Given the description of an element on the screen output the (x, y) to click on. 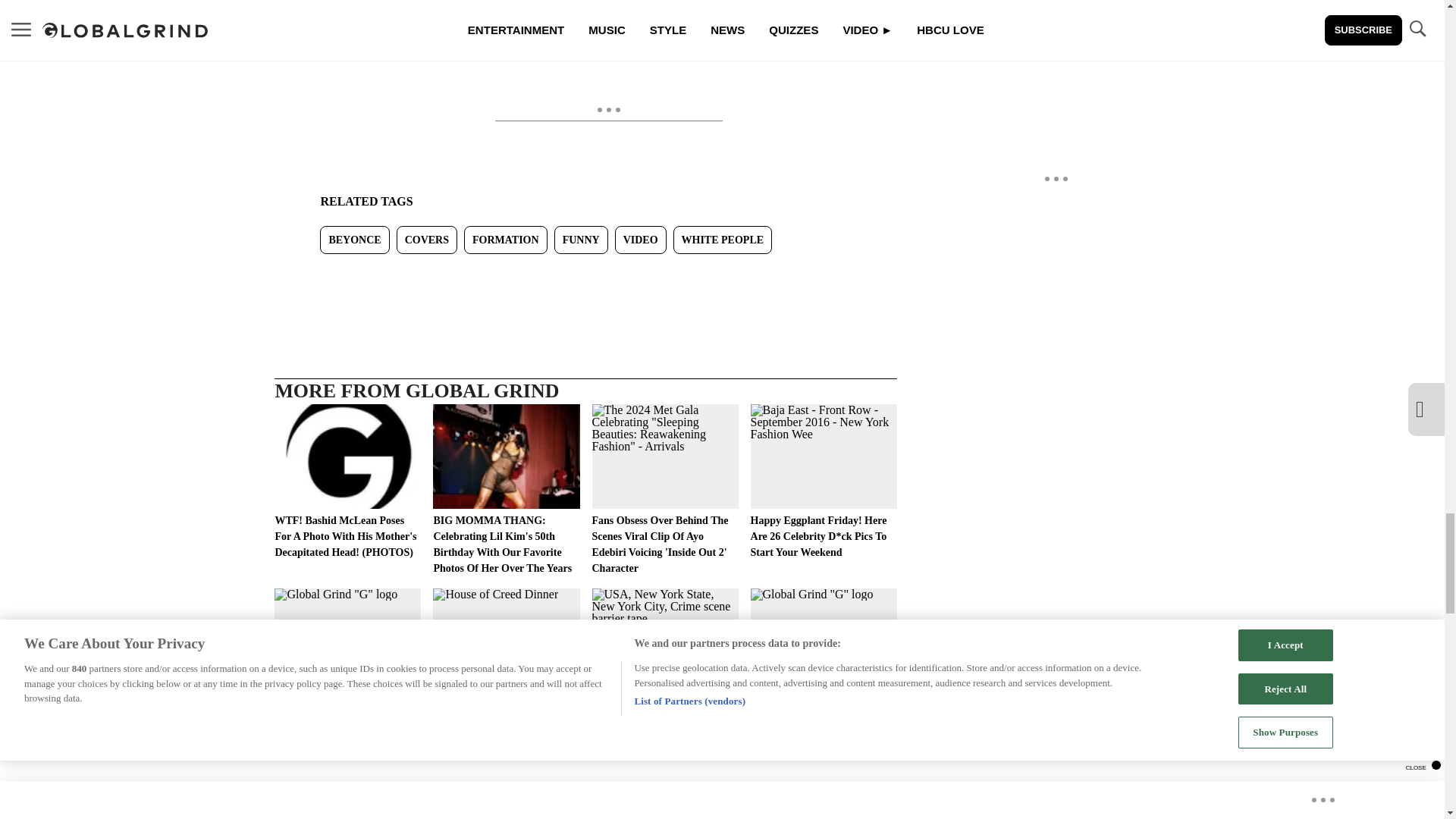
WHITE PEOPLE (722, 239)
FORMATION (505, 239)
FUNNY (581, 239)
Vuukle Sharebar Widget (585, 278)
VIDEO (640, 239)
COVERS (426, 239)
BEYONCE (354, 239)
